Given the description of an element on the screen output the (x, y) to click on. 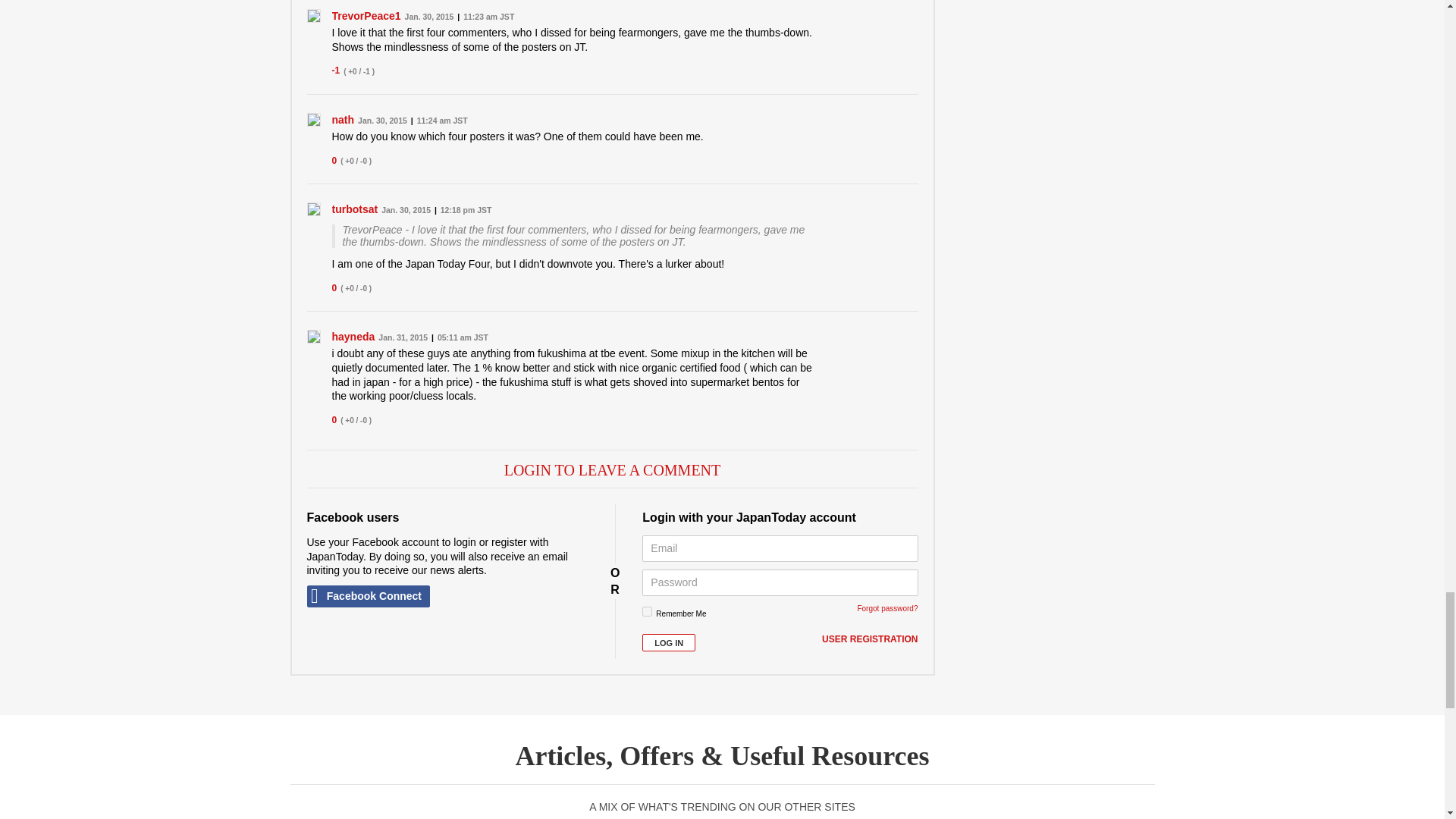
1 (647, 611)
Connect with Facebook (367, 596)
Log In (668, 642)
Forgot password? (887, 608)
User registration (869, 639)
